Given the description of an element on the screen output the (x, y) to click on. 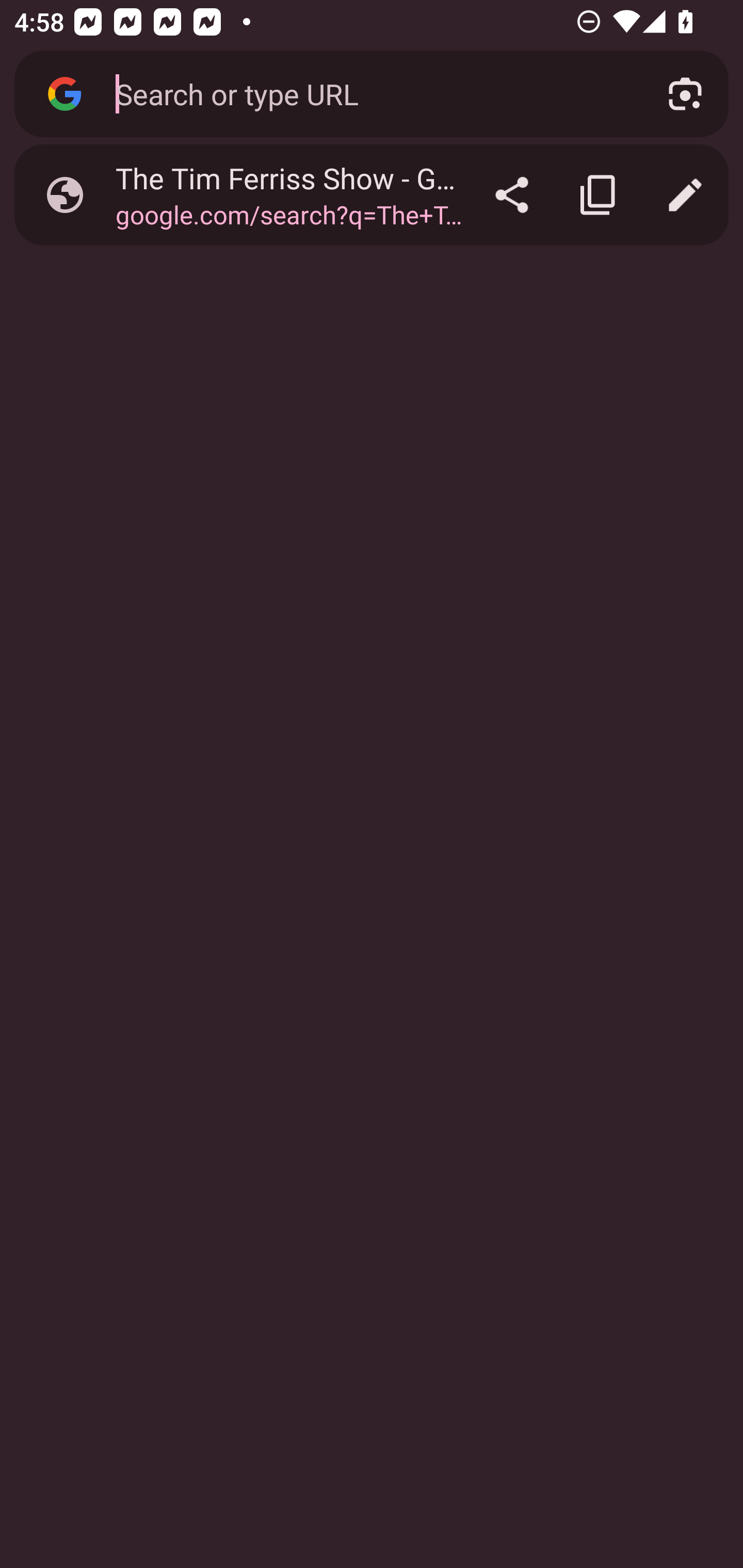
Search with your camera using Google Lens (684, 93)
Search or type URL (367, 92)
Share… (511, 195)
Copy link (598, 195)
Edit (684, 195)
